Given the description of an element on the screen output the (x, y) to click on. 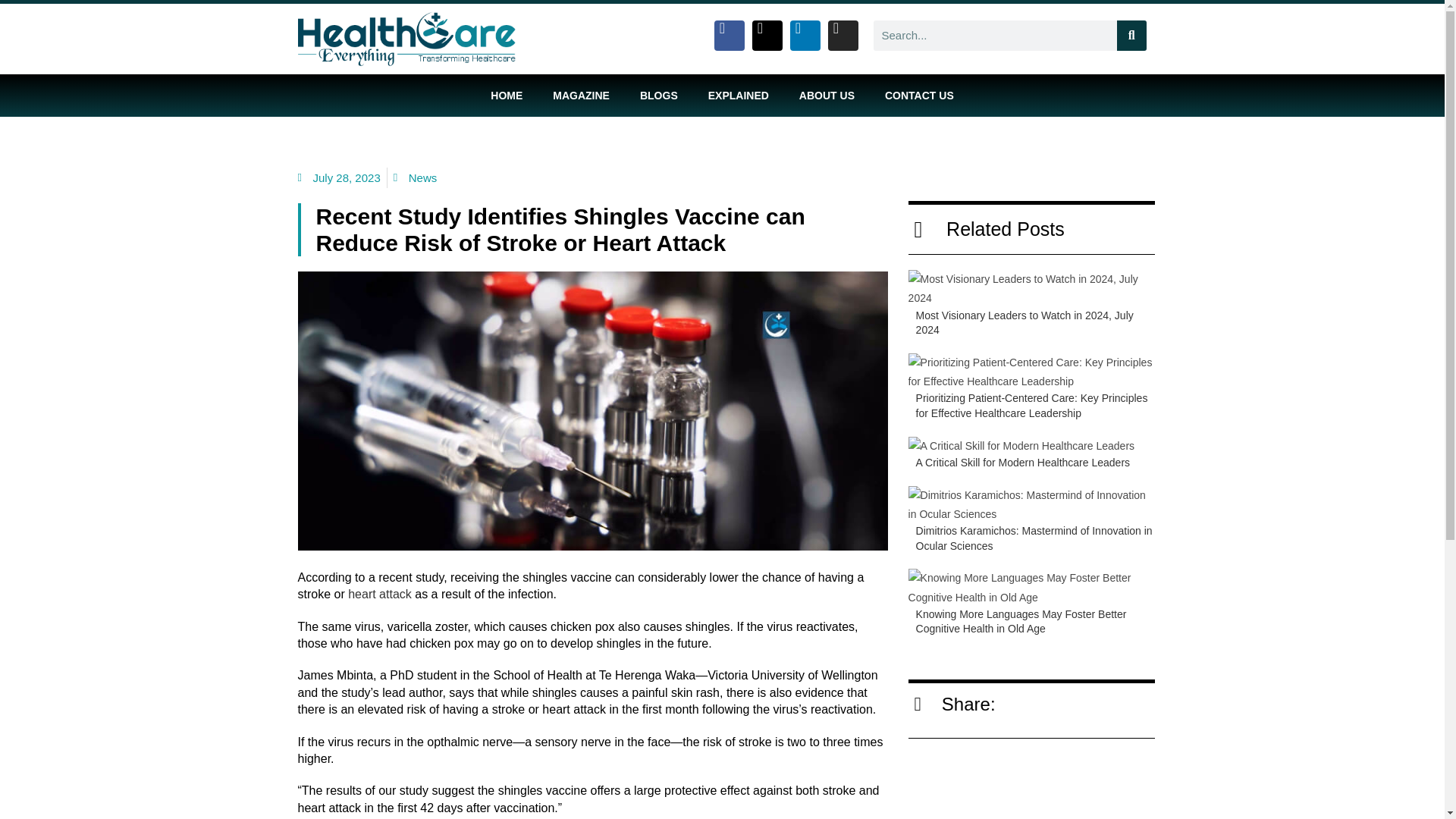
News (423, 177)
ABOUT US (826, 95)
A Critical Skill for Modern Healthcare Leaders (1022, 462)
Most Visionary Leaders to Watch in 2024, July 2024 (1024, 322)
MAGAZINE (580, 95)
EXPLAINED (738, 95)
BLOGS (658, 95)
